Given the description of an element on the screen output the (x, y) to click on. 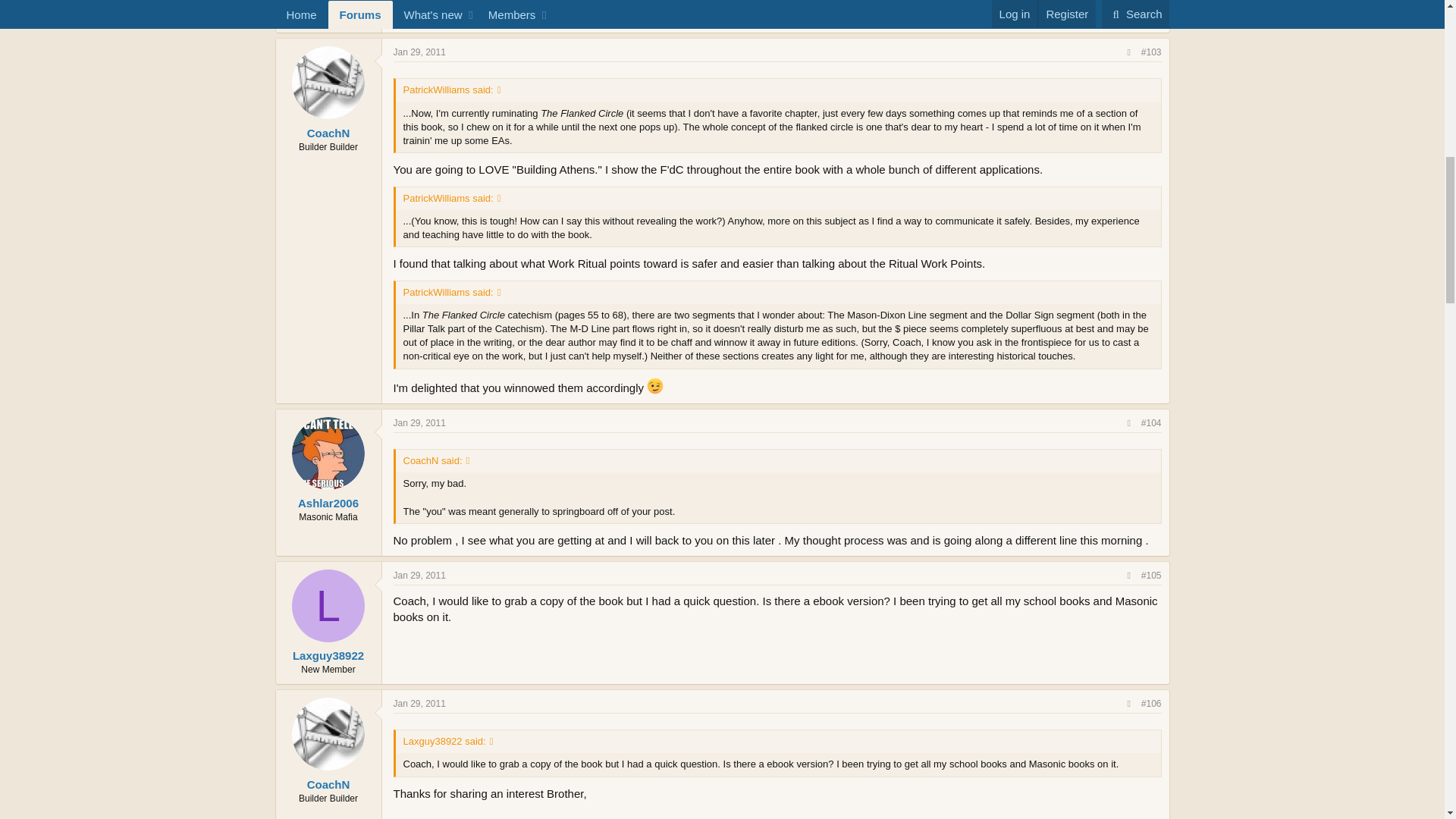
Jan 29, 2011 at 10:35 AM (419, 51)
Jan 29, 2011 at 11:21 AM (419, 575)
Jan 29, 2011 at 10:35 AM (419, 422)
Jan 29, 2011 at 11:46 AM (419, 703)
